Given the description of an element on the screen output the (x, y) to click on. 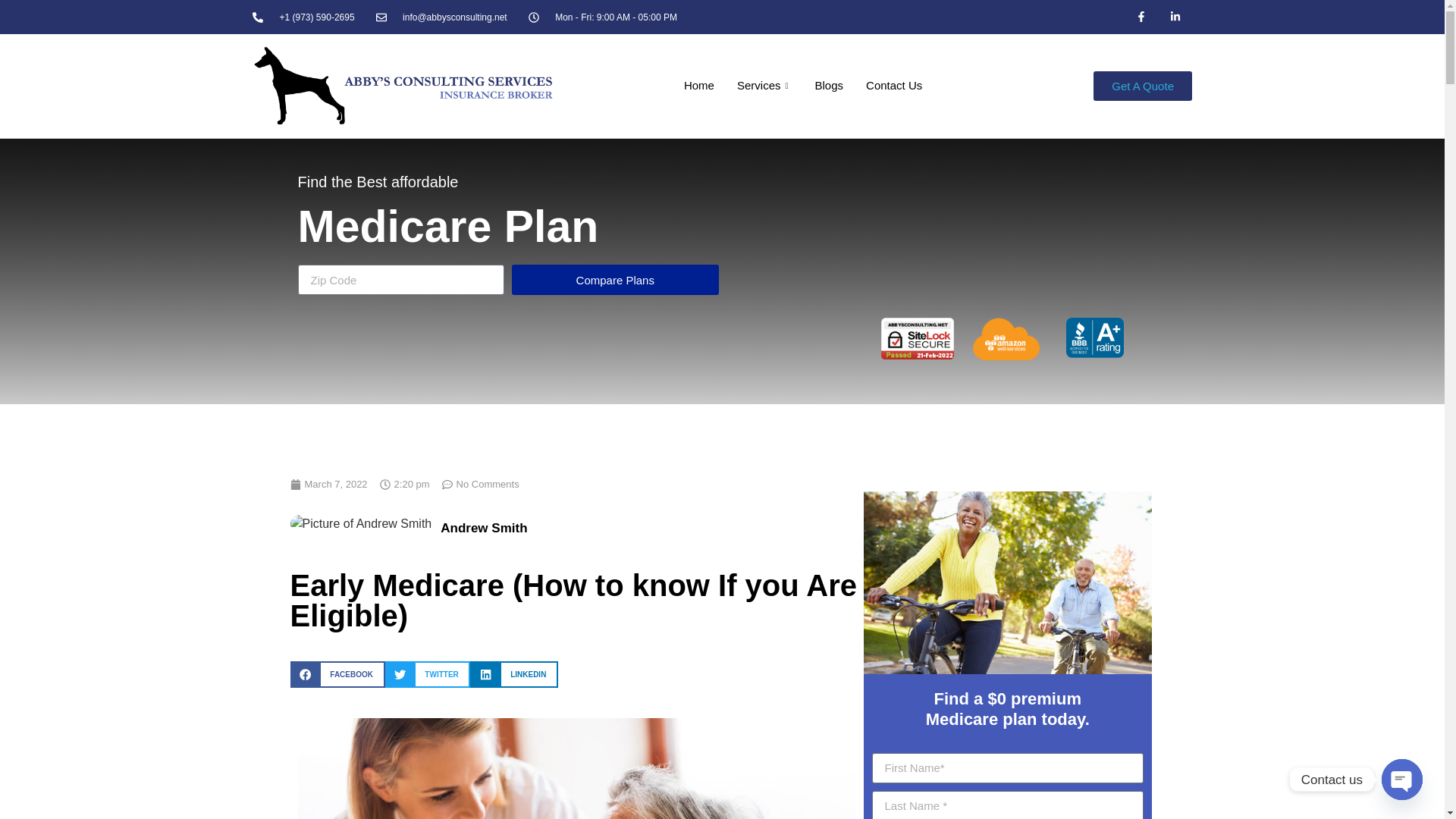
Get A Quote (1142, 85)
Contact Us (893, 85)
Compare Plans (615, 279)
No Comments (480, 484)
March 7, 2022 (327, 484)
Services (764, 85)
